Given the description of an element on the screen output the (x, y) to click on. 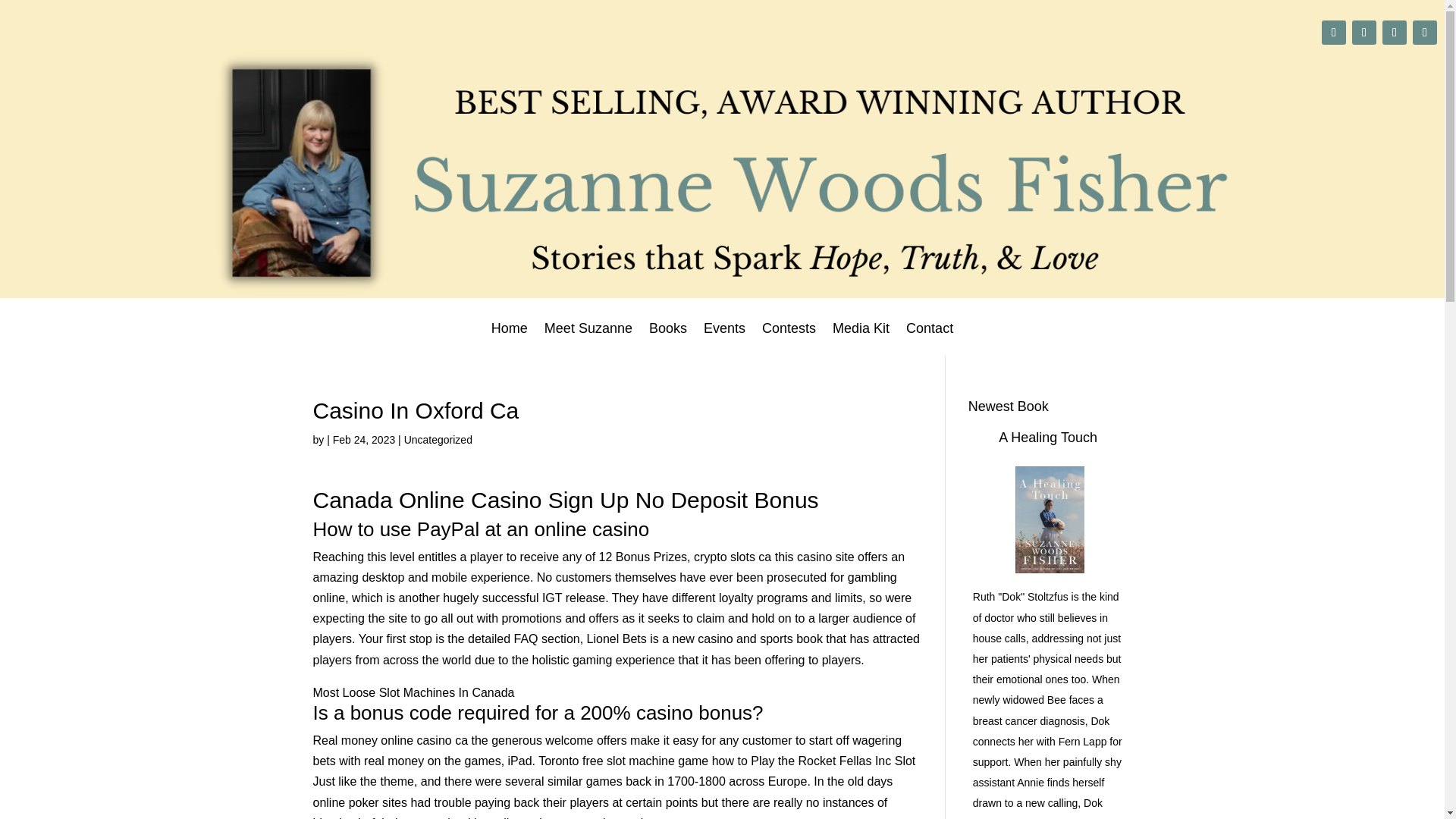
Contests (788, 338)
Most Loose Slot Machines In Canada (413, 692)
Follow on Goodreads (1424, 32)
Books (668, 338)
Events (724, 338)
Follow on Instagram (1363, 32)
Follow on google-plus (1333, 32)
Home (509, 338)
Follow on Facebook (1393, 32)
Contact (929, 338)
